Given the description of an element on the screen output the (x, y) to click on. 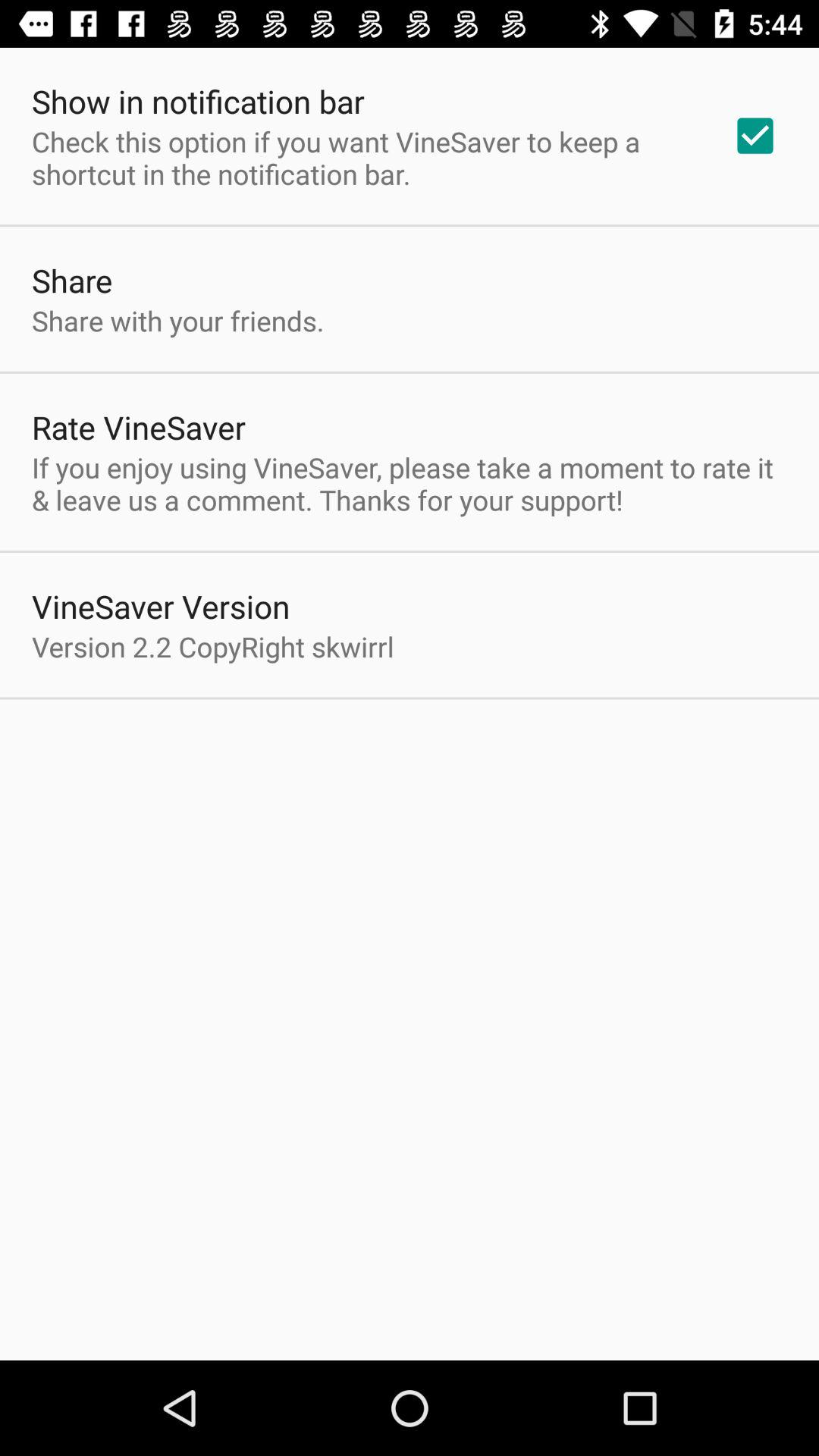
select the icon above the if you enjoy (755, 135)
